Given the description of an element on the screen output the (x, y) to click on. 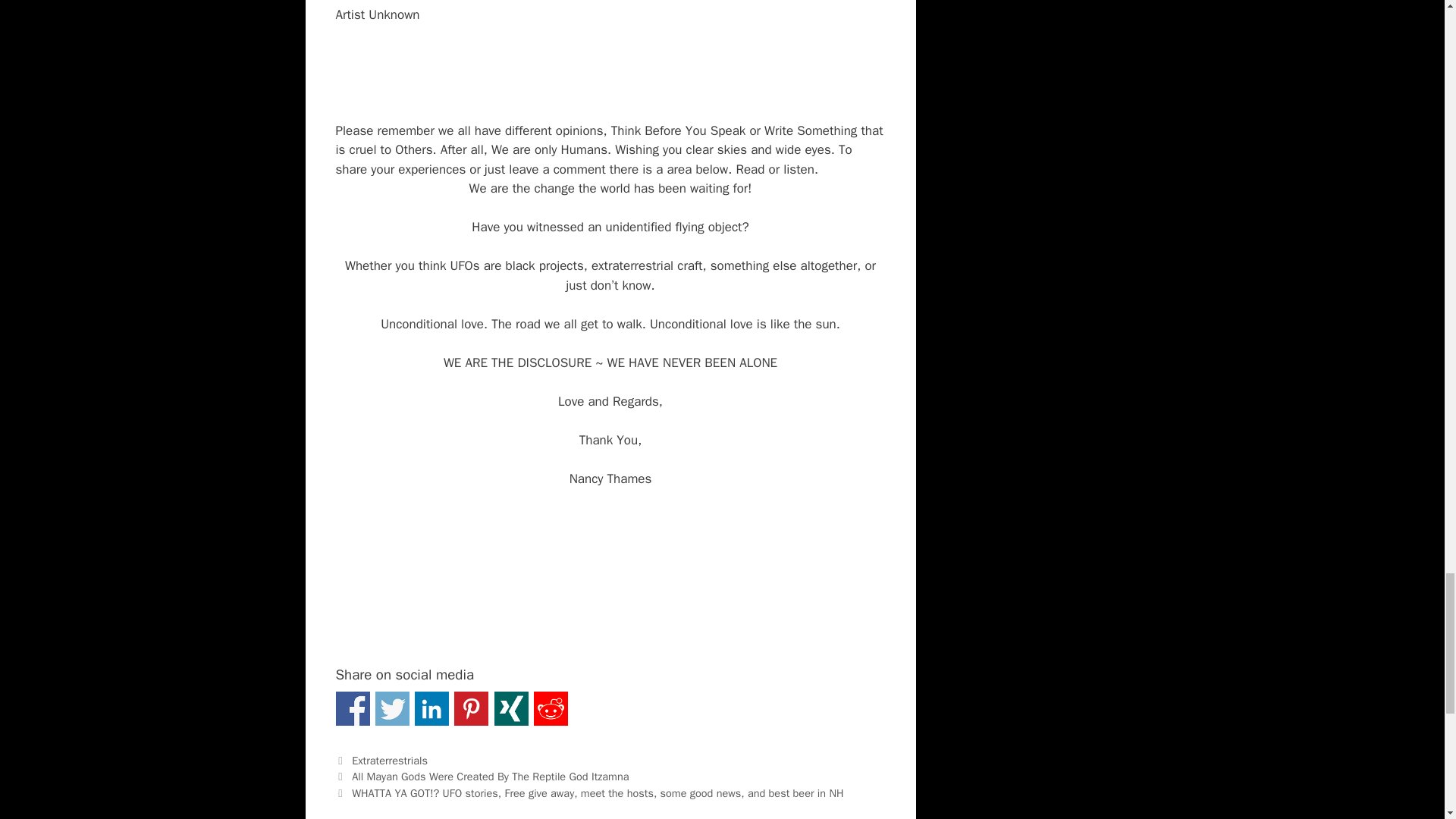
Share on Reddit (550, 708)
Share on Xing (511, 708)
Share on Linkedin (431, 708)
All Mayan Gods Were Created By The Reptile God Itzamna (490, 775)
Share on Pinterest (470, 708)
Extraterrestrials (390, 760)
Share on Facebook (351, 708)
Share on Twitter (392, 708)
